Given the description of an element on the screen output the (x, y) to click on. 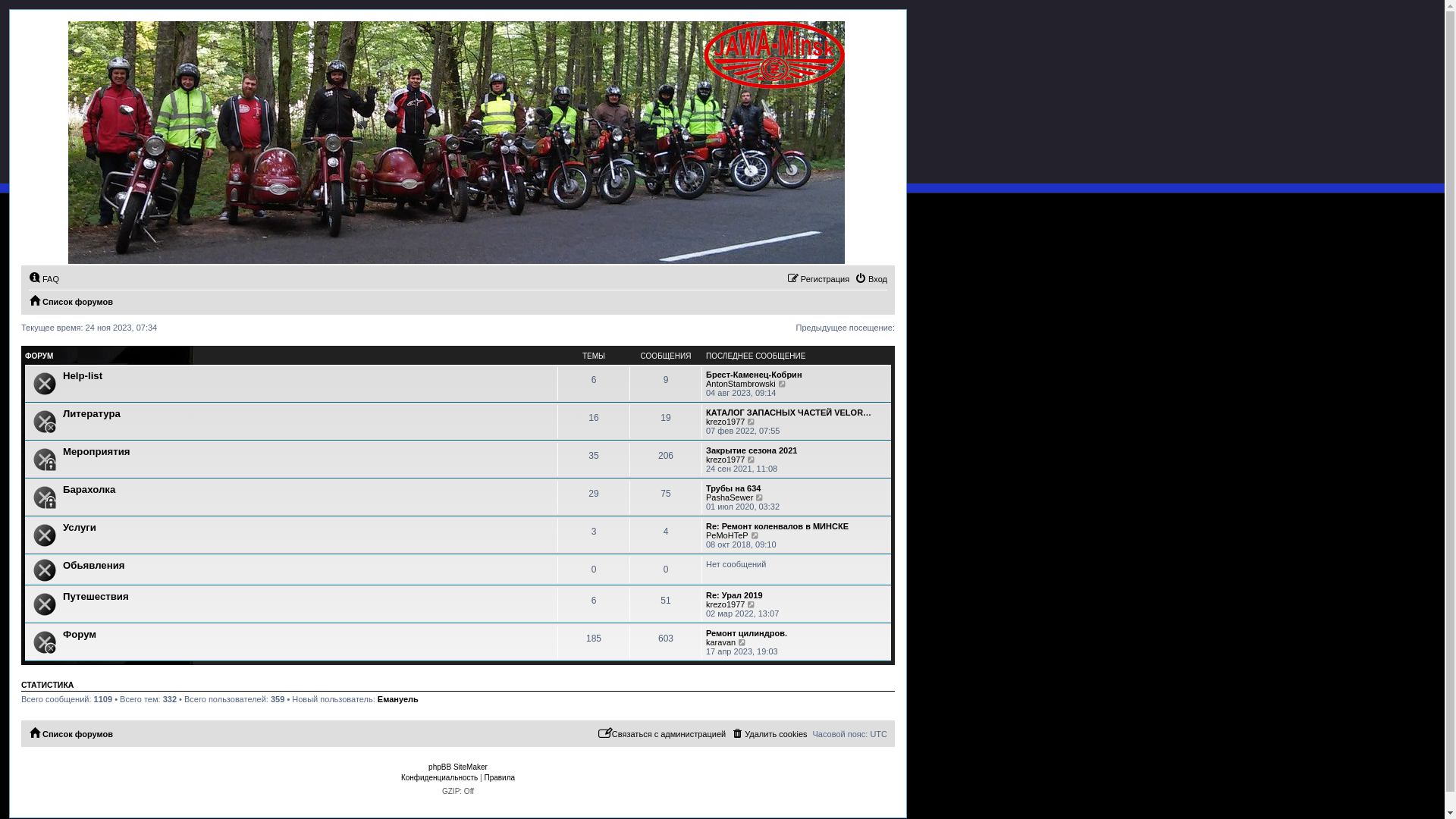
FAQ Element type: text (43, 278)
AntonStambrowski Element type: text (740, 383)
PeMoHTeP Element type: text (727, 534)
PashaSewer Element type: text (729, 497)
krezo1977 Element type: text (725, 603)
krezo1977 Element type: text (725, 421)
Help-list Element type: text (82, 375)
krezo1977 Element type: text (725, 459)
karavan Element type: text (720, 641)
phpBB SiteMaker Element type: text (457, 766)
